Given the description of an element on the screen output the (x, y) to click on. 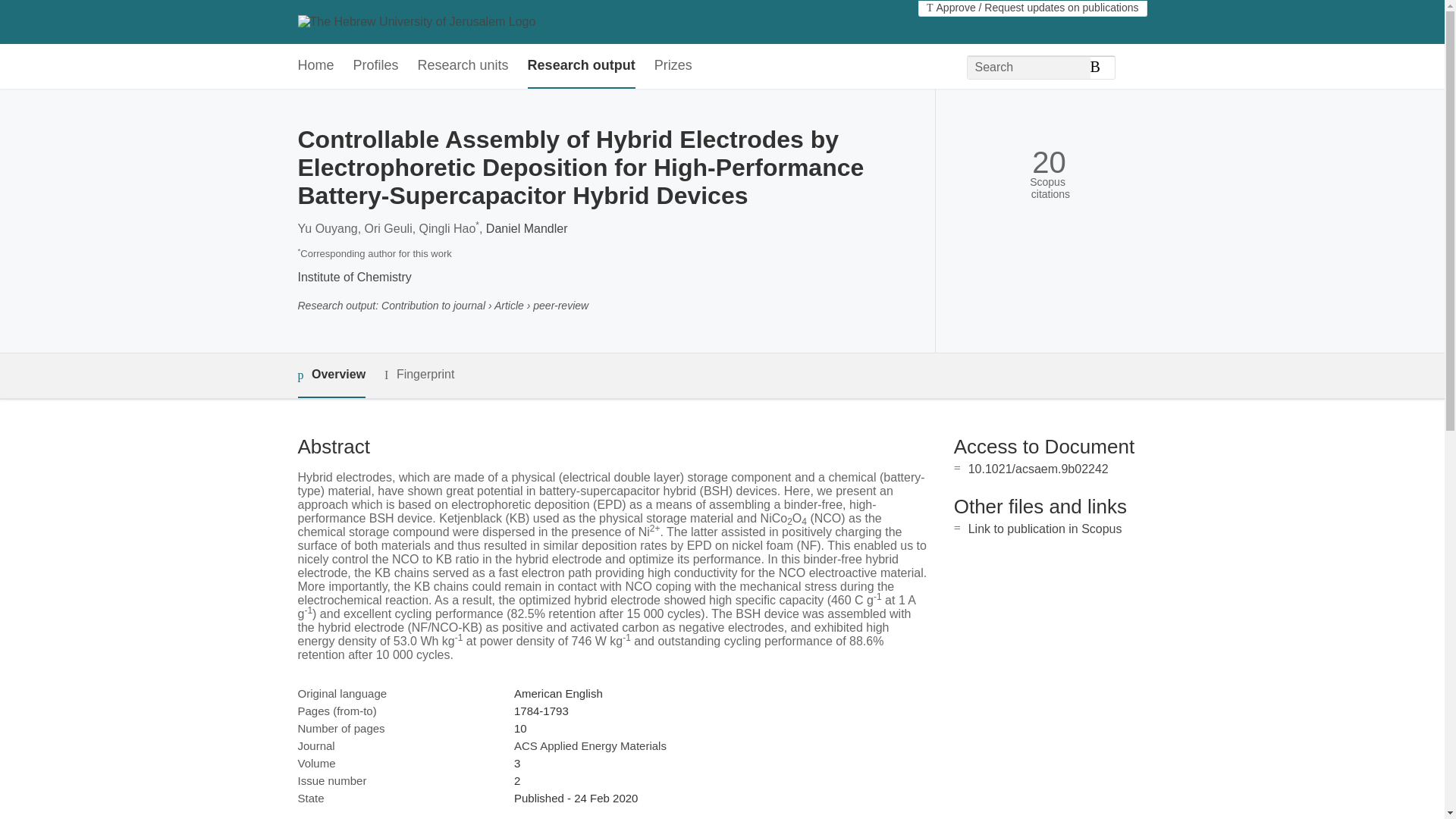
The Hebrew University of Jerusalem Home (416, 21)
Overview (331, 375)
ACS Applied Energy Materials (589, 745)
Research output (580, 66)
Daniel Mandler (526, 228)
Fingerprint (419, 374)
Link to publication in Scopus (1045, 528)
Profiles (375, 66)
Institute of Chemistry (353, 277)
Research units (462, 66)
